Given the description of an element on the screen output the (x, y) to click on. 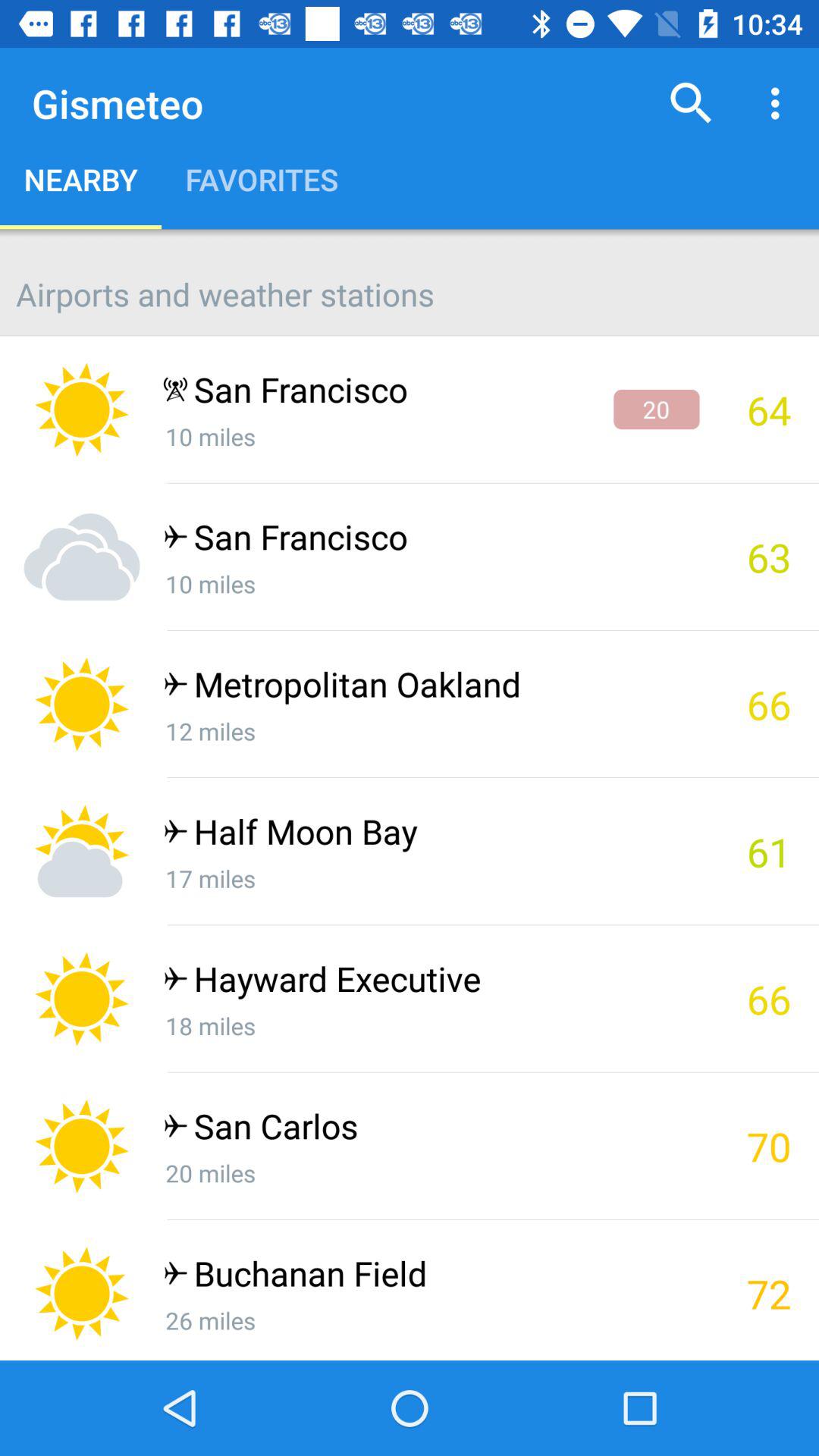
turn on the item next to the 72 (431, 1277)
